Given the description of an element on the screen output the (x, y) to click on. 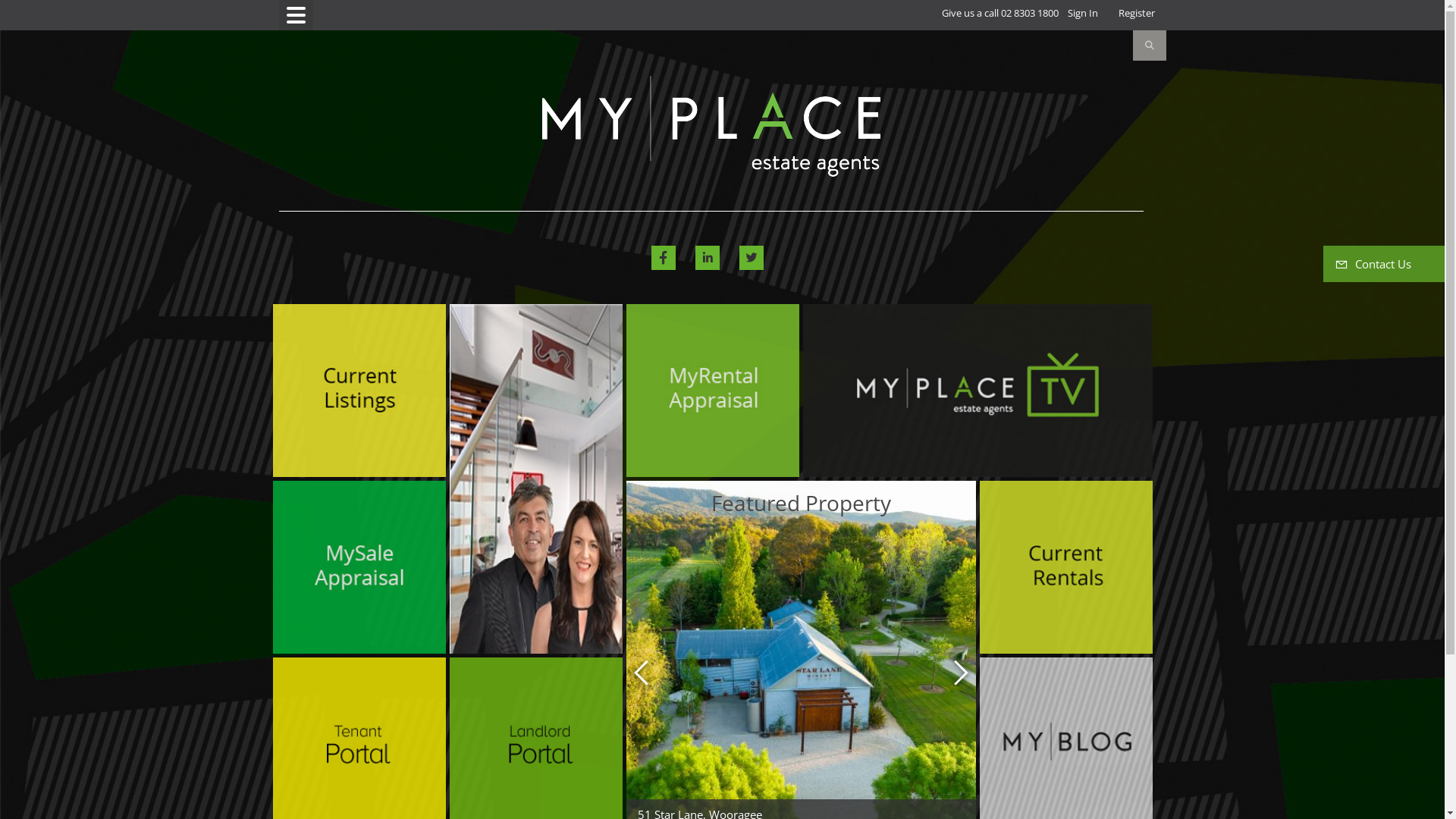
prev Element type: text (643, 672)
  Element type: text (359, 390)
Give us a call 02 8303 1800 Element type: text (999, 13)
next Element type: text (958, 672)
  Element type: text (1066, 743)
Sign In Element type: text (1082, 13)
  Element type: text (977, 390)
  Element type: text (358, 743)
  Element type: text (359, 566)
Contact Us Element type: text (1383, 263)
  Element type: text (712, 390)
Register Element type: text (1136, 13)
Login Element type: text (1124, 14)
  Element type: text (535, 743)
? Element type: text (1156, 14)
  Element type: text (1066, 566)
